Given the description of an element on the screen output the (x, y) to click on. 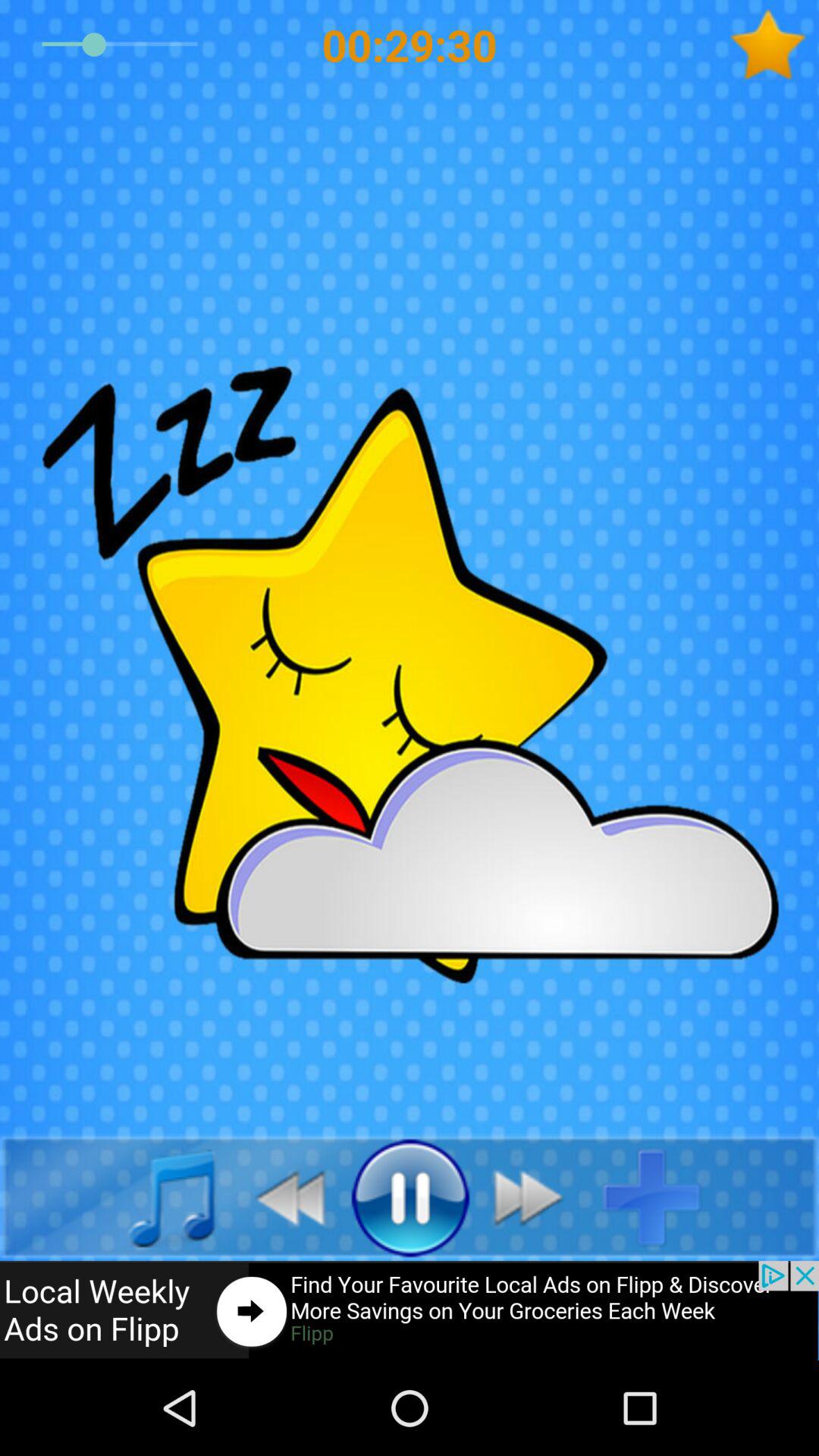
go back (281, 1196)
